Given the description of an element on the screen output the (x, y) to click on. 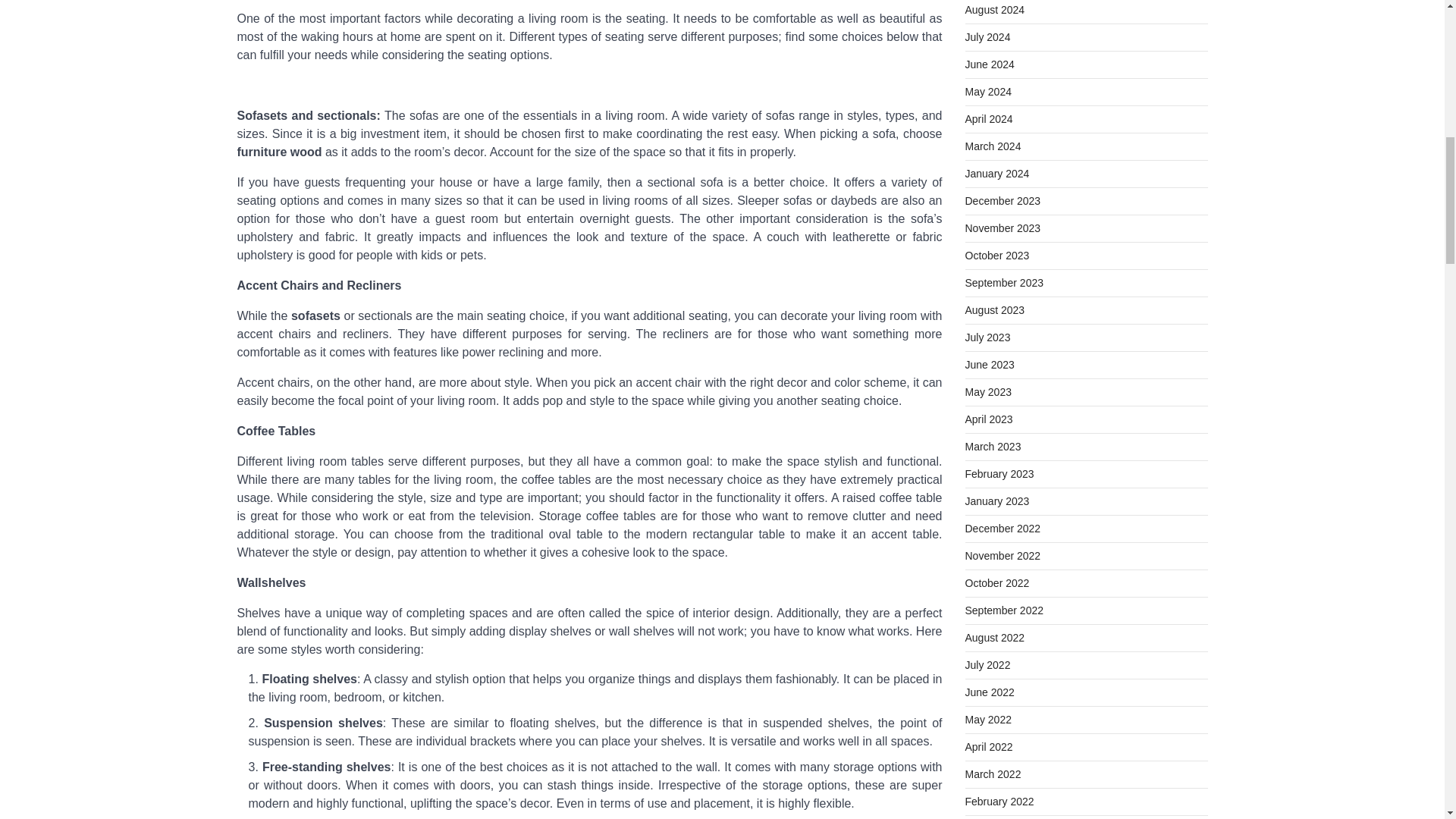
November 2023 (1002, 227)
September 2023 (1003, 282)
March 2024 (991, 146)
October 2023 (996, 255)
August 2024 (994, 9)
August 2023 (994, 309)
June 2024 (988, 64)
July 2024 (986, 37)
December 2023 (1002, 200)
May 2024 (986, 91)
